Given the description of an element on the screen output the (x, y) to click on. 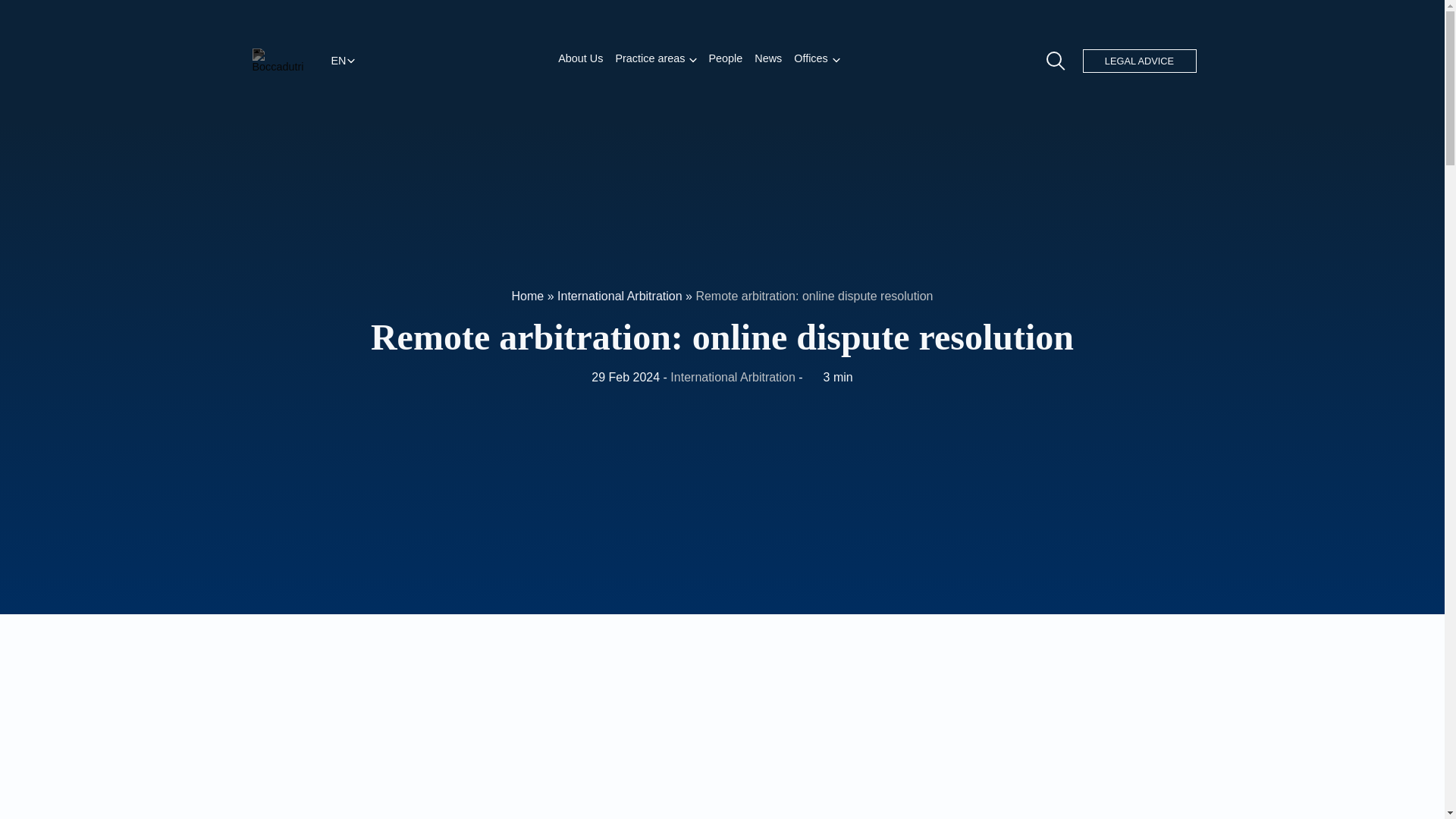
Practice areas (649, 58)
Offices (810, 58)
News (767, 58)
People (724, 58)
EN (339, 59)
About Us (579, 58)
